Given the description of an element on the screen output the (x, y) to click on. 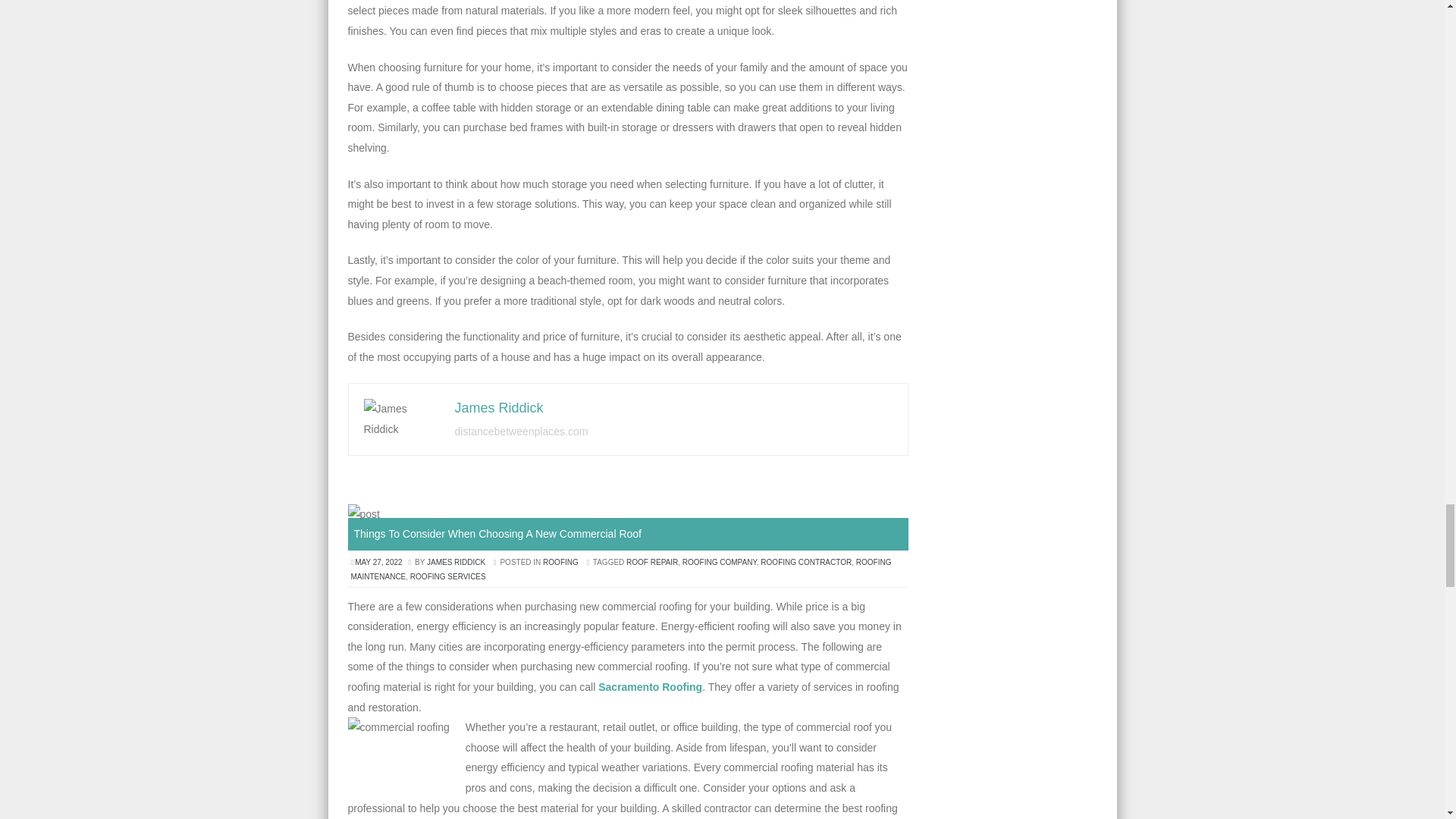
5:09 am (378, 561)
View all posts by James Riddick (455, 561)
